Given the description of an element on the screen output the (x, y) to click on. 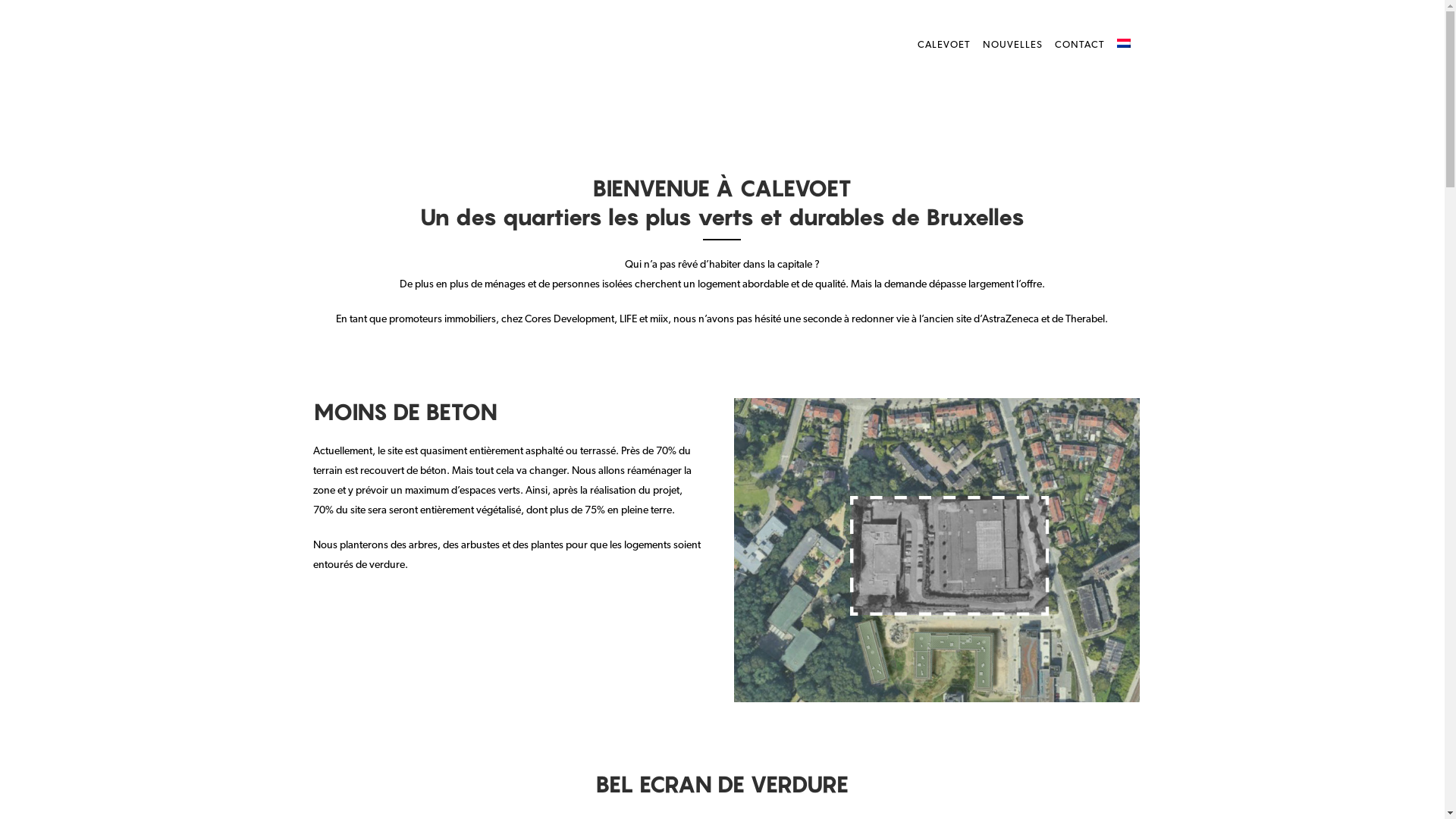
Ukkel Calevoet Locatie Element type: hover (936, 550)
CALEVOET Element type: text (943, 45)
CONTACT Element type: text (1079, 45)
NOUVELLES Element type: text (1012, 45)
